Given the description of an element on the screen output the (x, y) to click on. 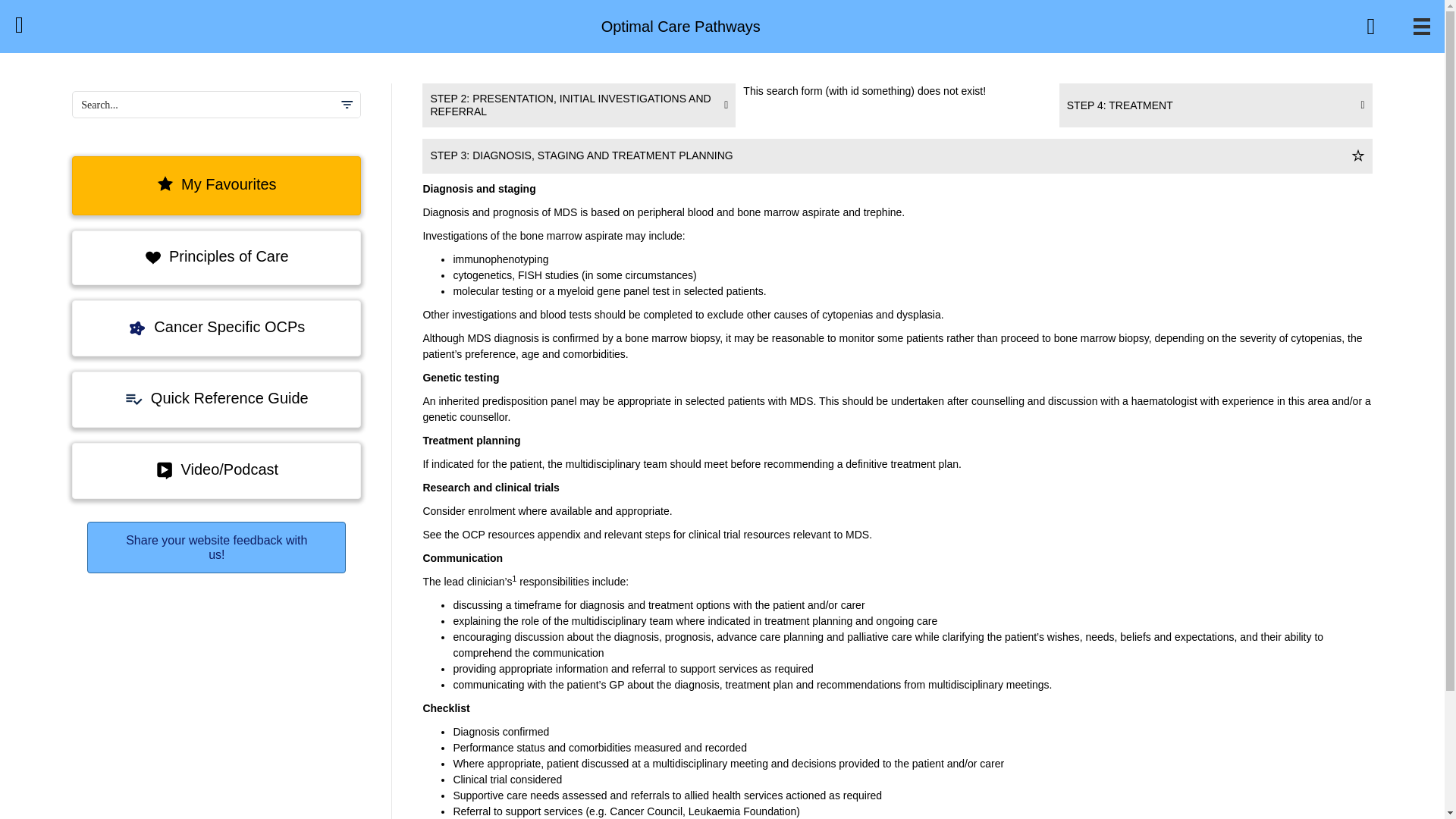
STEP 2: PRESENTATION, INITIAL INVESTIGATIONS AND REFERRAL (578, 105)
Cancer Specific OCPs (216, 328)
Share your website feedback with us! (216, 547)
My Favourites (216, 185)
STEP 4: TREATMENT (1216, 105)
Quick Reference Guide (216, 399)
Principles of Care (216, 257)
STEP 3: DIAGNOSIS, STAGING AND TREATMENT PLANNING (582, 155)
